Given the description of an element on the screen output the (x, y) to click on. 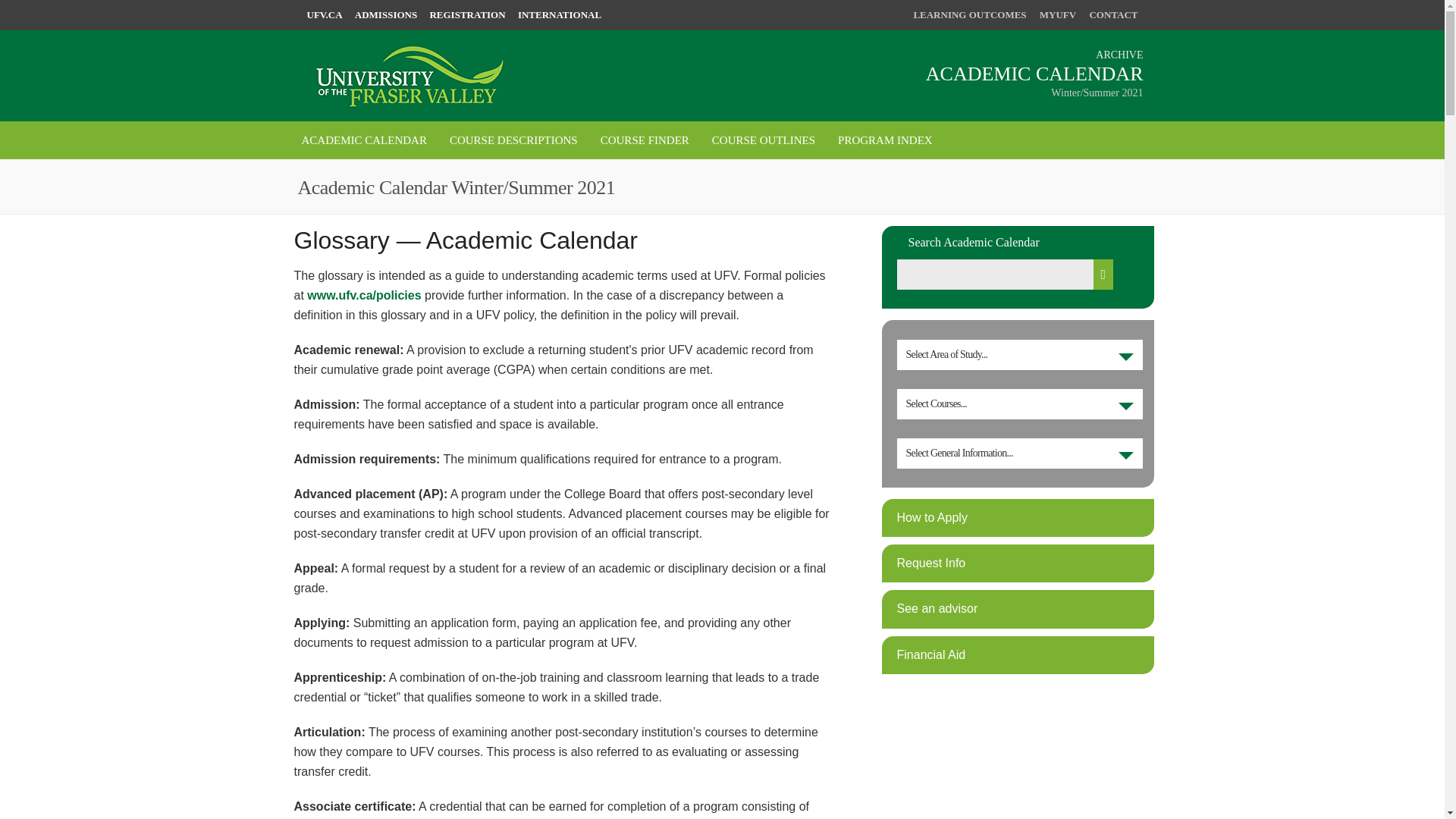
UFV Course Descriptions (513, 139)
COURSE OUTLINES (763, 139)
See a UFV advisor (936, 608)
ACADEMIC CALENDAR (363, 139)
INTERNATIONAL (559, 14)
Financial Aid (930, 654)
UFV Program Index (885, 139)
ADMISSIONS (385, 14)
MYUFV (1057, 14)
LEARNING OUTCOMES (969, 14)
UFV.CA (323, 14)
Select Area of Study... (1019, 354)
Request more information (930, 562)
University of the Fraser Valley (407, 69)
COURSE FINDER (644, 139)
